Given the description of an element on the screen output the (x, y) to click on. 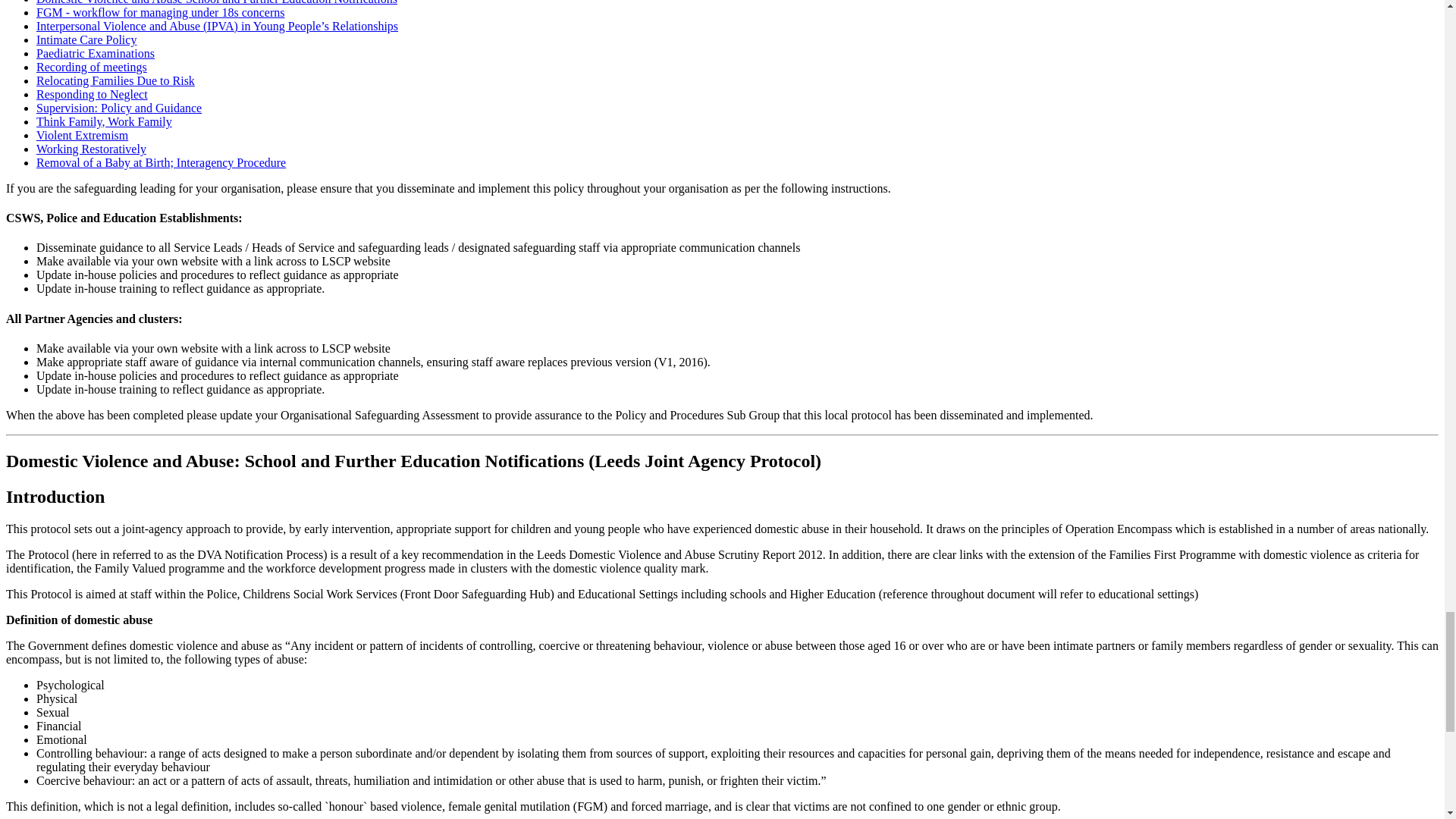
Think Family, Work Family (103, 121)
Removal of a Baby at Birth; Interagency Procedure (160, 162)
Intimate Care Policy (86, 39)
Responding to Neglect (92, 93)
FGM - workflow for managing under 18s concerns (159, 11)
Violent Extremism (82, 134)
Relocating Families Due to Risk (115, 80)
Paediatric Examinations (95, 52)
Supervision: Policy and Guidance (119, 107)
Working Restoratively (91, 148)
Recording of meetings (91, 66)
